Given the description of an element on the screen output the (x, y) to click on. 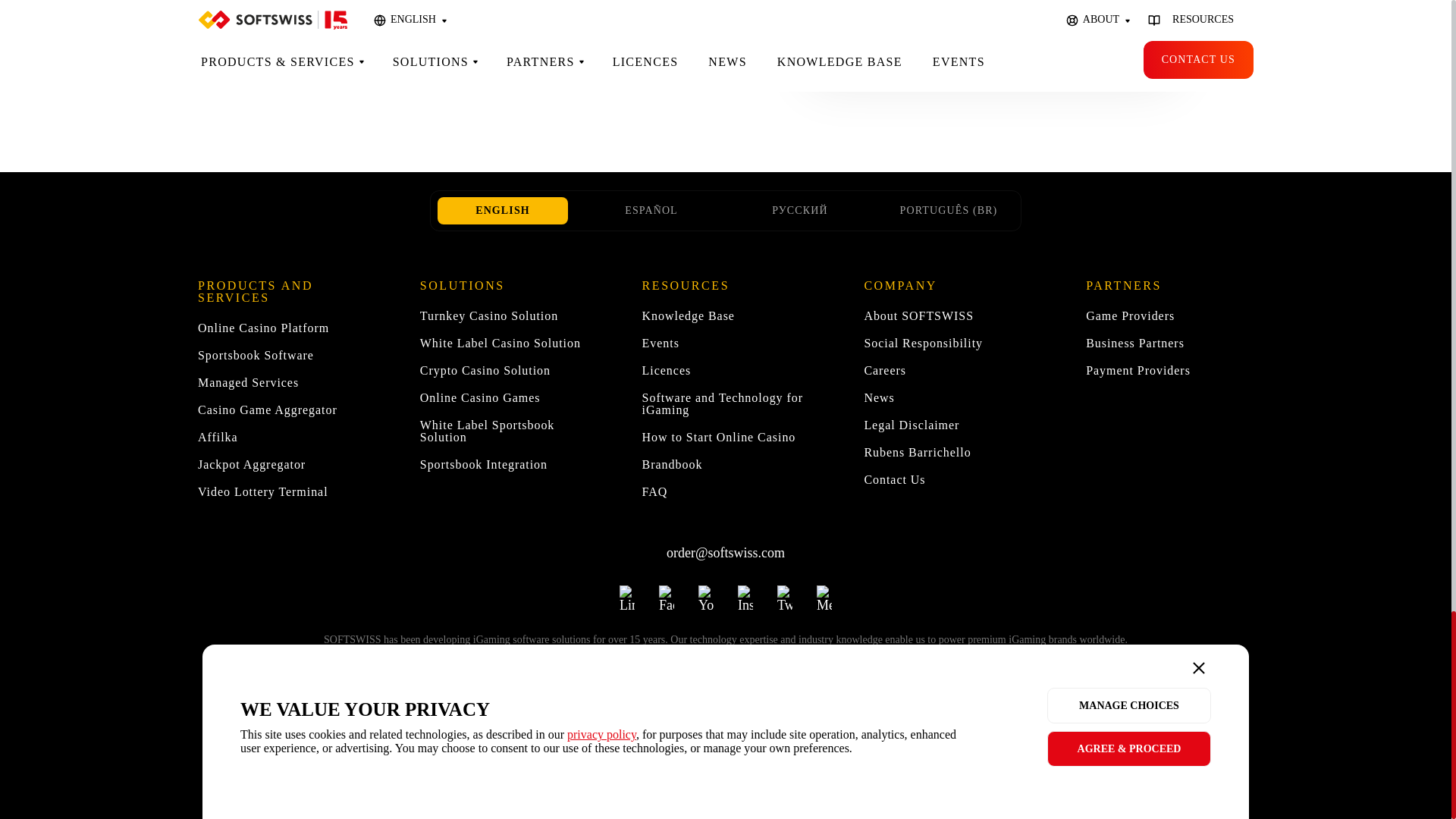
Follow link (763, 768)
Medium (823, 591)
Twitter (784, 591)
Instagram (745, 591)
Linkedin (627, 591)
Facebook (666, 591)
Youtube (705, 591)
